Given the description of an element on the screen output the (x, y) to click on. 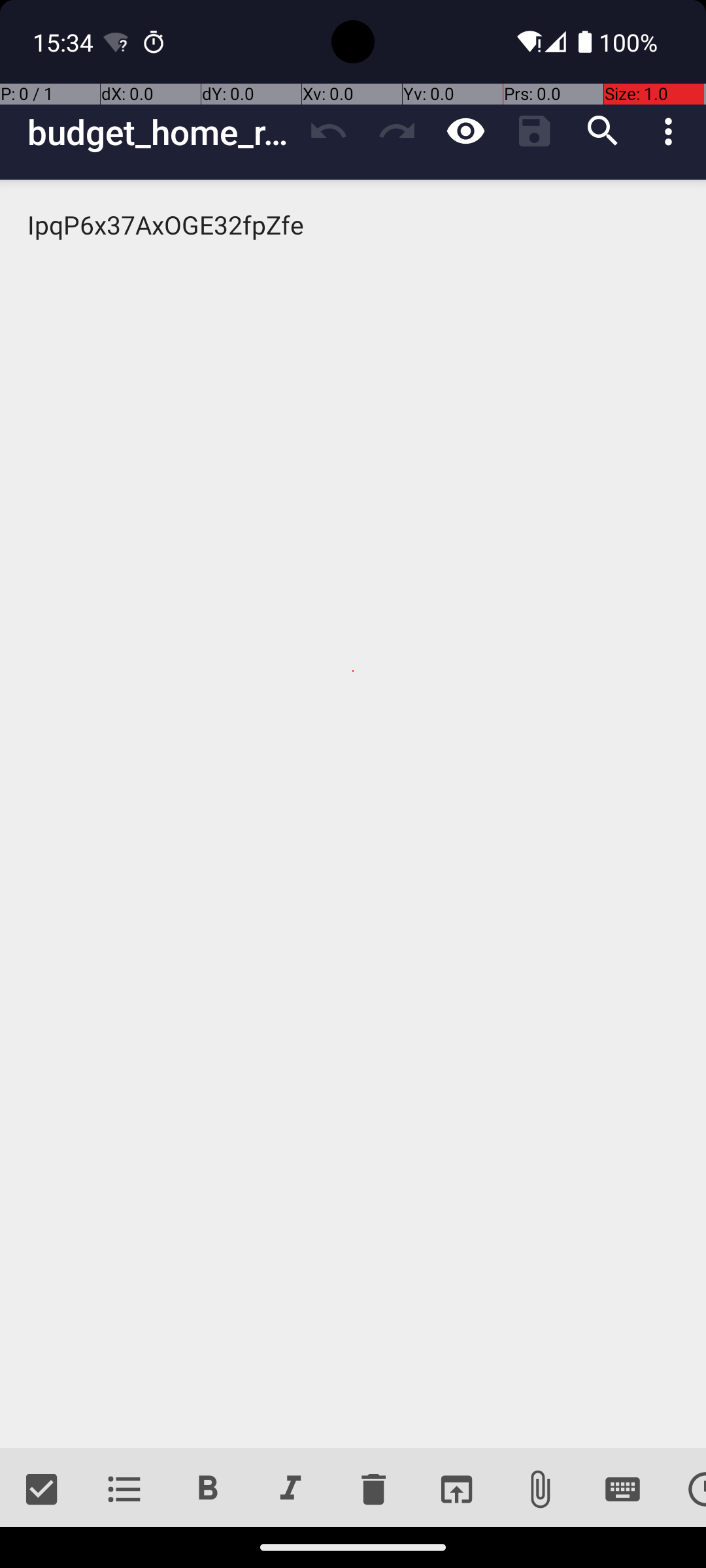
budget_home_renovation_copy Element type: android.widget.TextView (160, 131)
IpqP6x37AxOGE32fpZfe
 Element type: android.widget.EditText (353, 813)
Android System notification: AndroidWifi has no internet access Element type: android.widget.ImageView (115, 41)
